Given the description of an element on the screen output the (x, y) to click on. 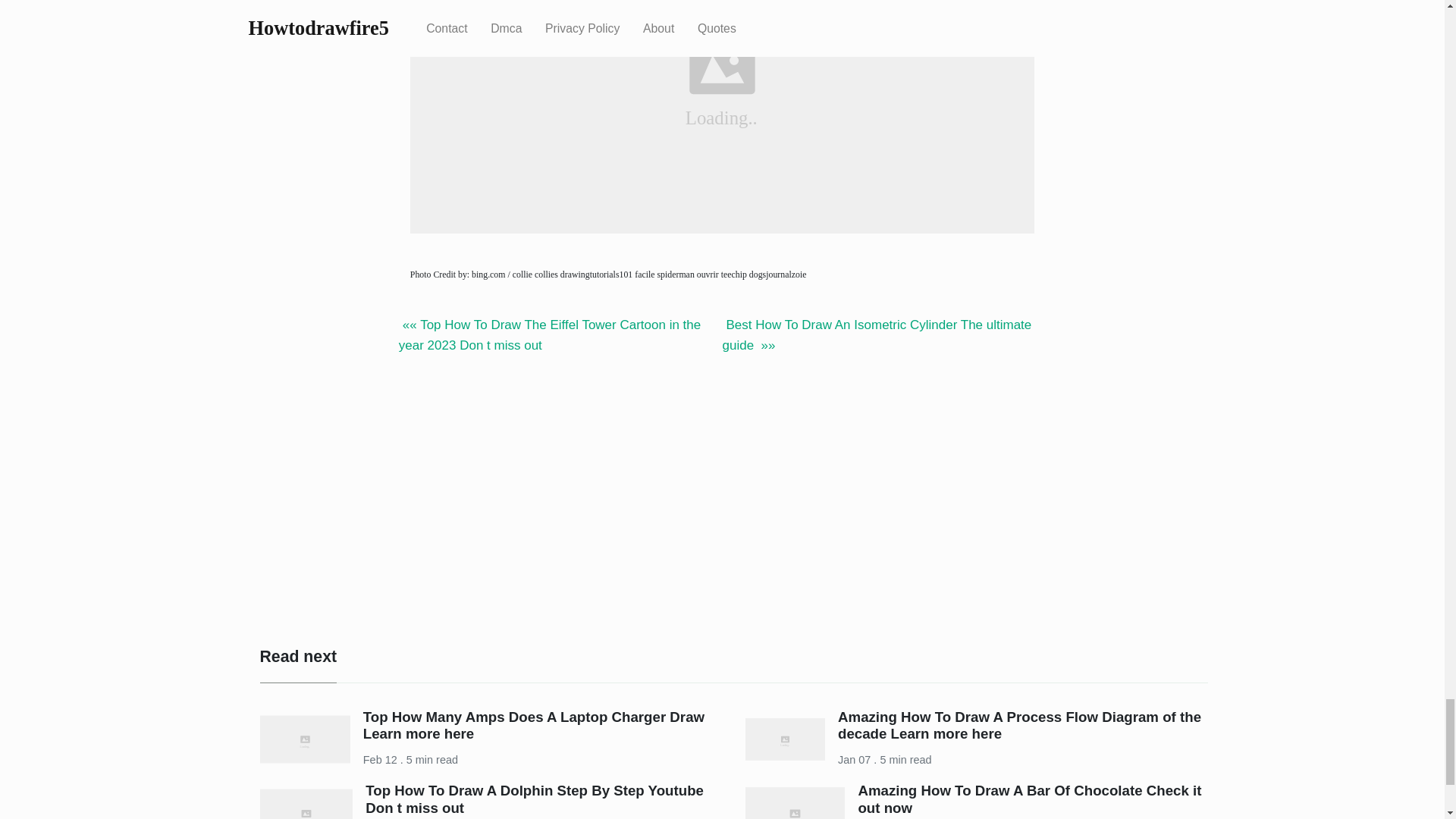
Top How Many Amps Does A Laptop Charger Draw Learn more here (533, 725)
Amazing How To Draw A Bar Of Chocolate Check it out now (1029, 798)
